Given the description of an element on the screen output the (x, y) to click on. 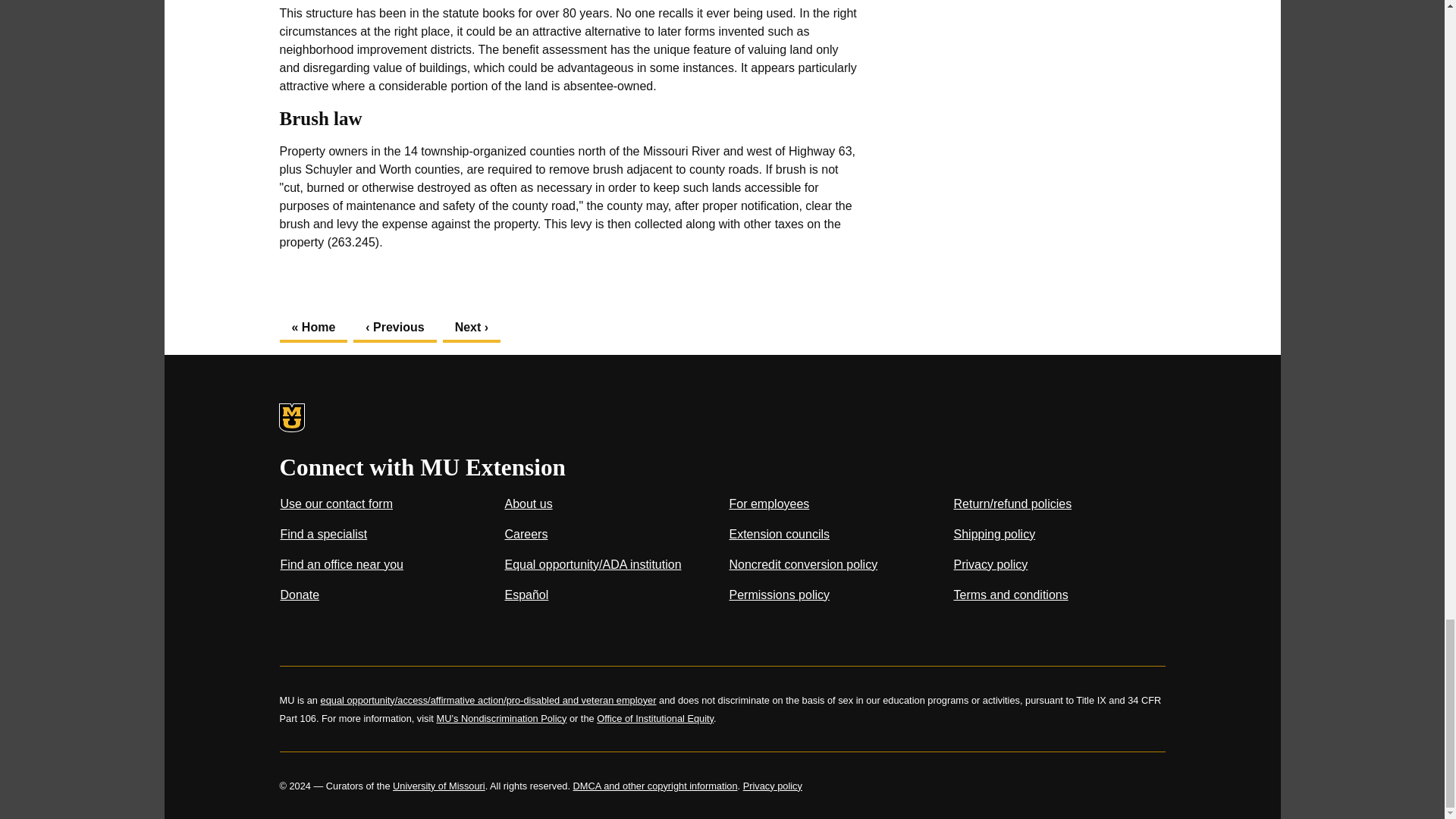
Go to previous page (394, 327)
Go to first page (313, 327)
Go to next page (471, 327)
